Given the description of an element on the screen output the (x, y) to click on. 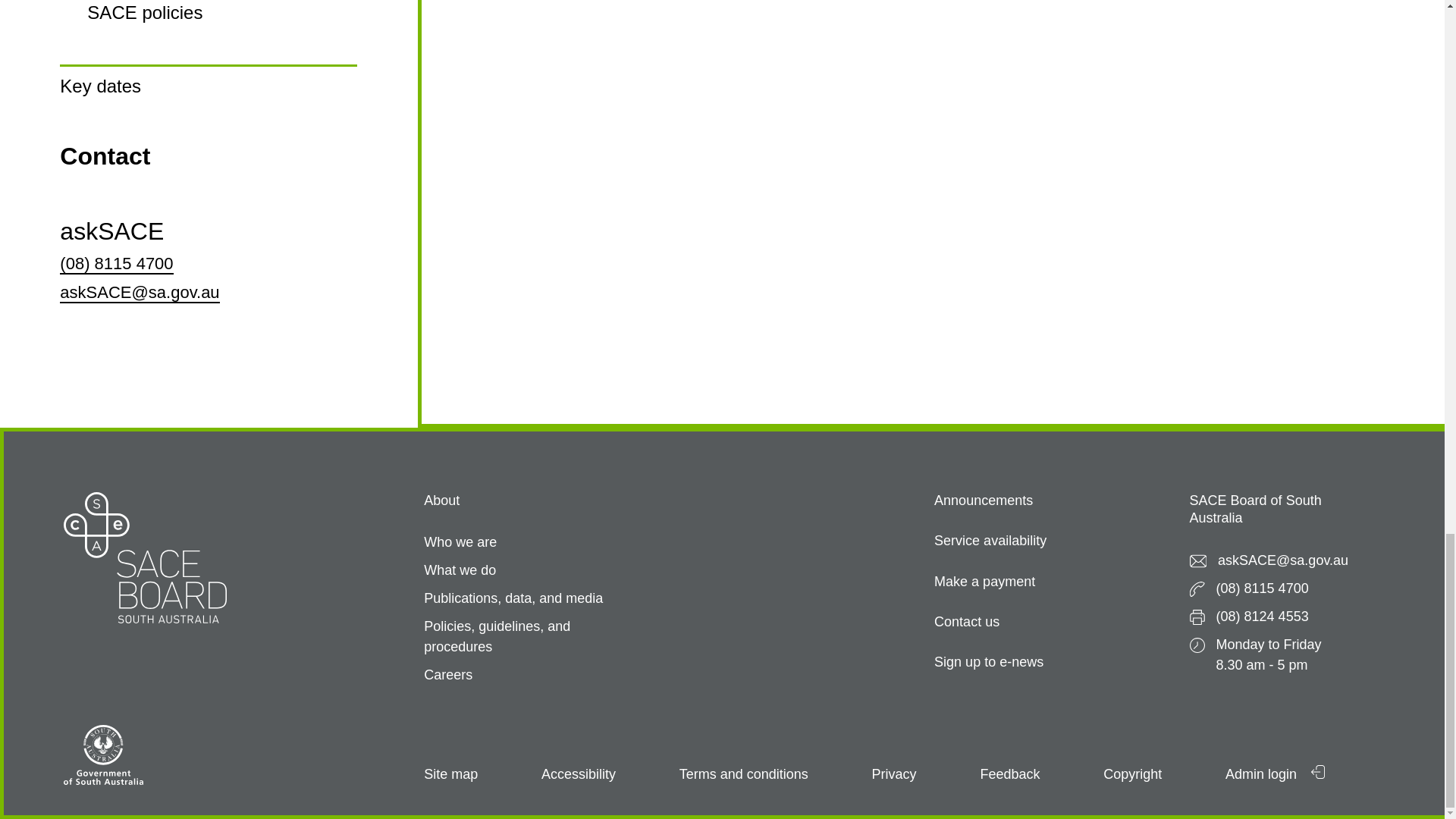
login (1317, 771)
